Given the description of an element on the screen output the (x, y) to click on. 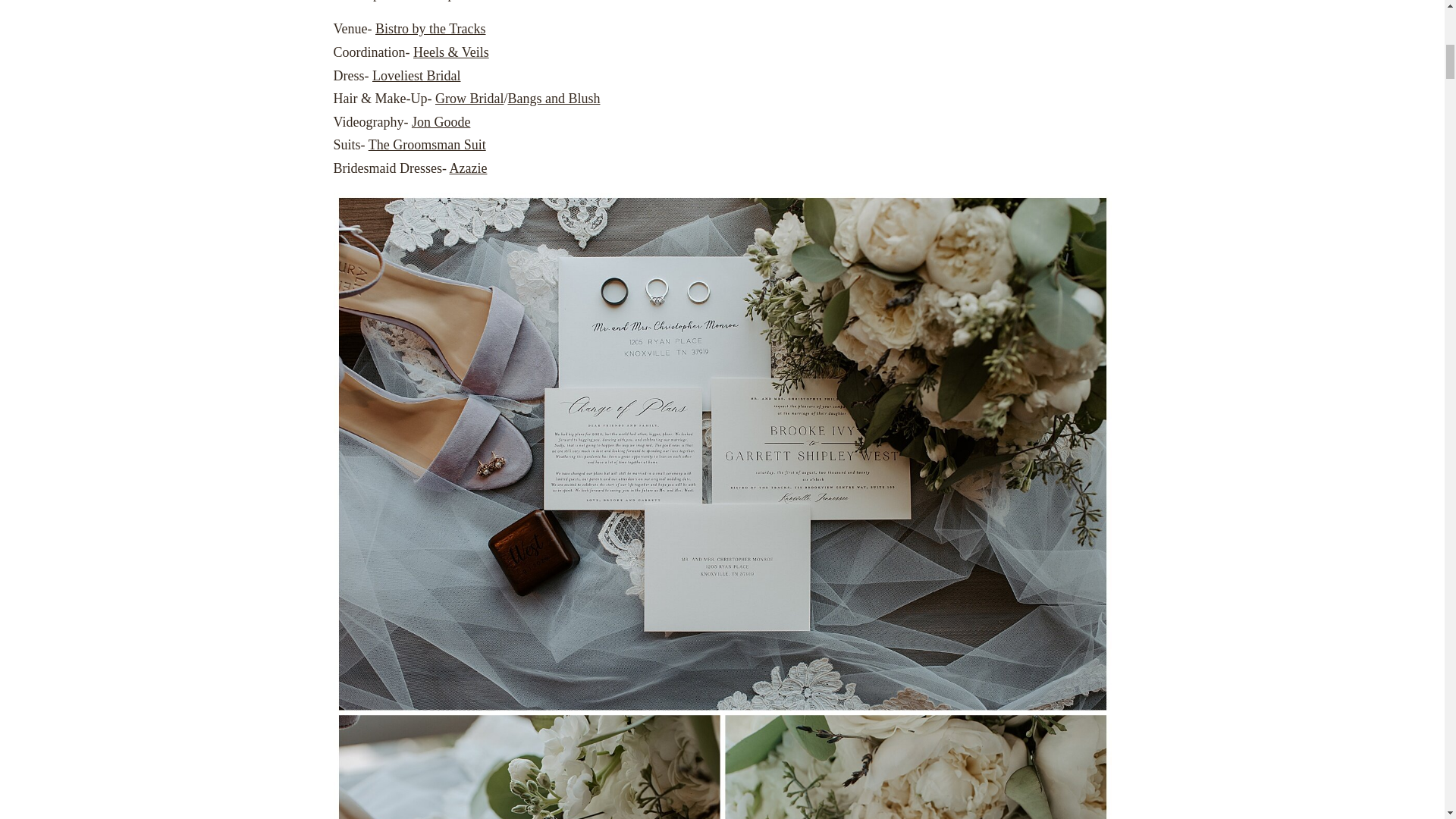
Azazie (467, 168)
The Groomsman Suit (427, 144)
Jon Goode (441, 121)
Bangs and Blush (552, 98)
Grow Bridal (469, 98)
Loveliest Bridal (416, 75)
Bistro by the Tracks (430, 28)
